Given the description of an element on the screen output the (x, y) to click on. 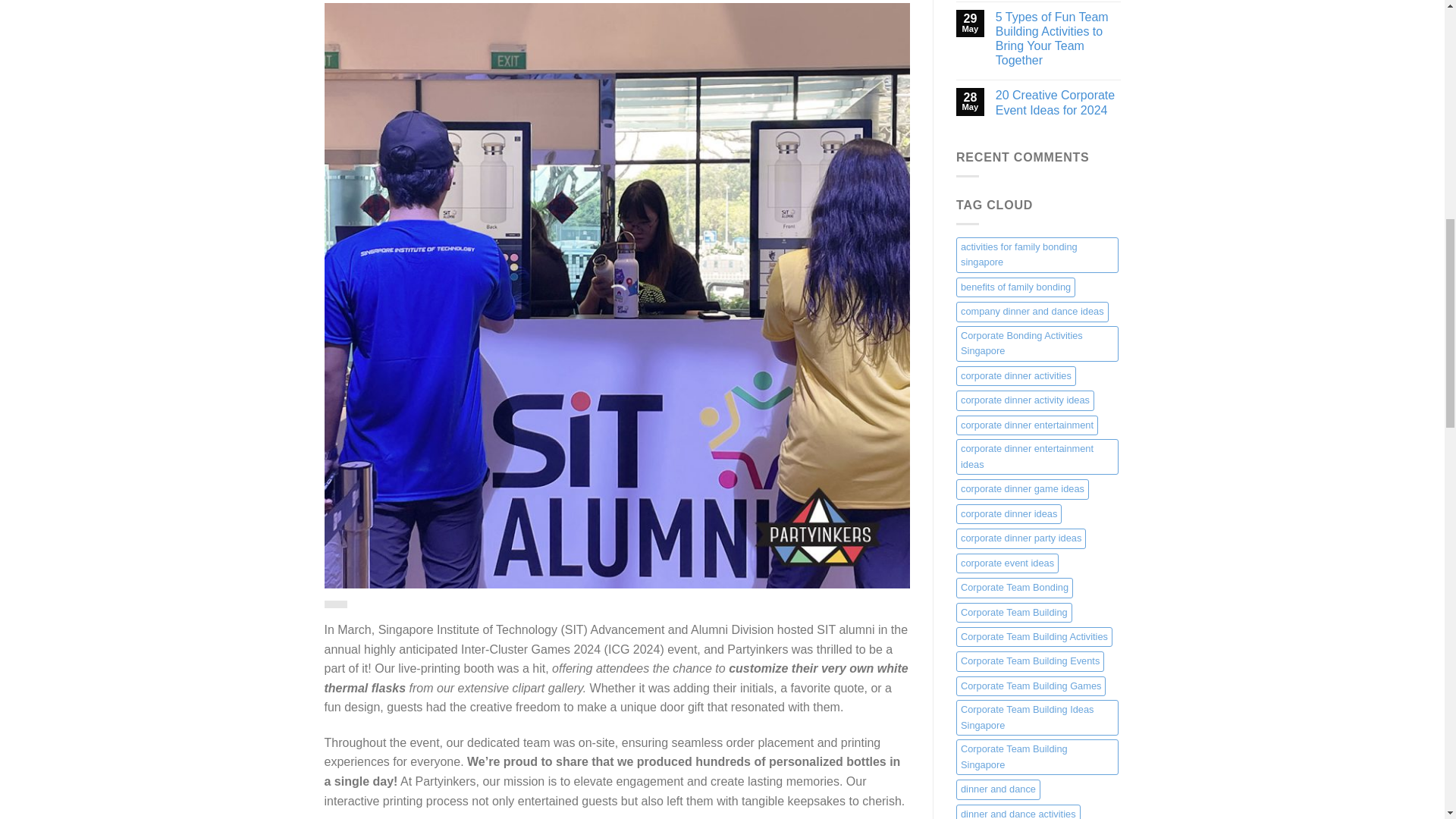
20 Creative Corporate Event Ideas for 2024 (1058, 102)
activities for family bonding singapore (1037, 254)
benefits of family bonding (1015, 287)
